Given the description of an element on the screen output the (x, y) to click on. 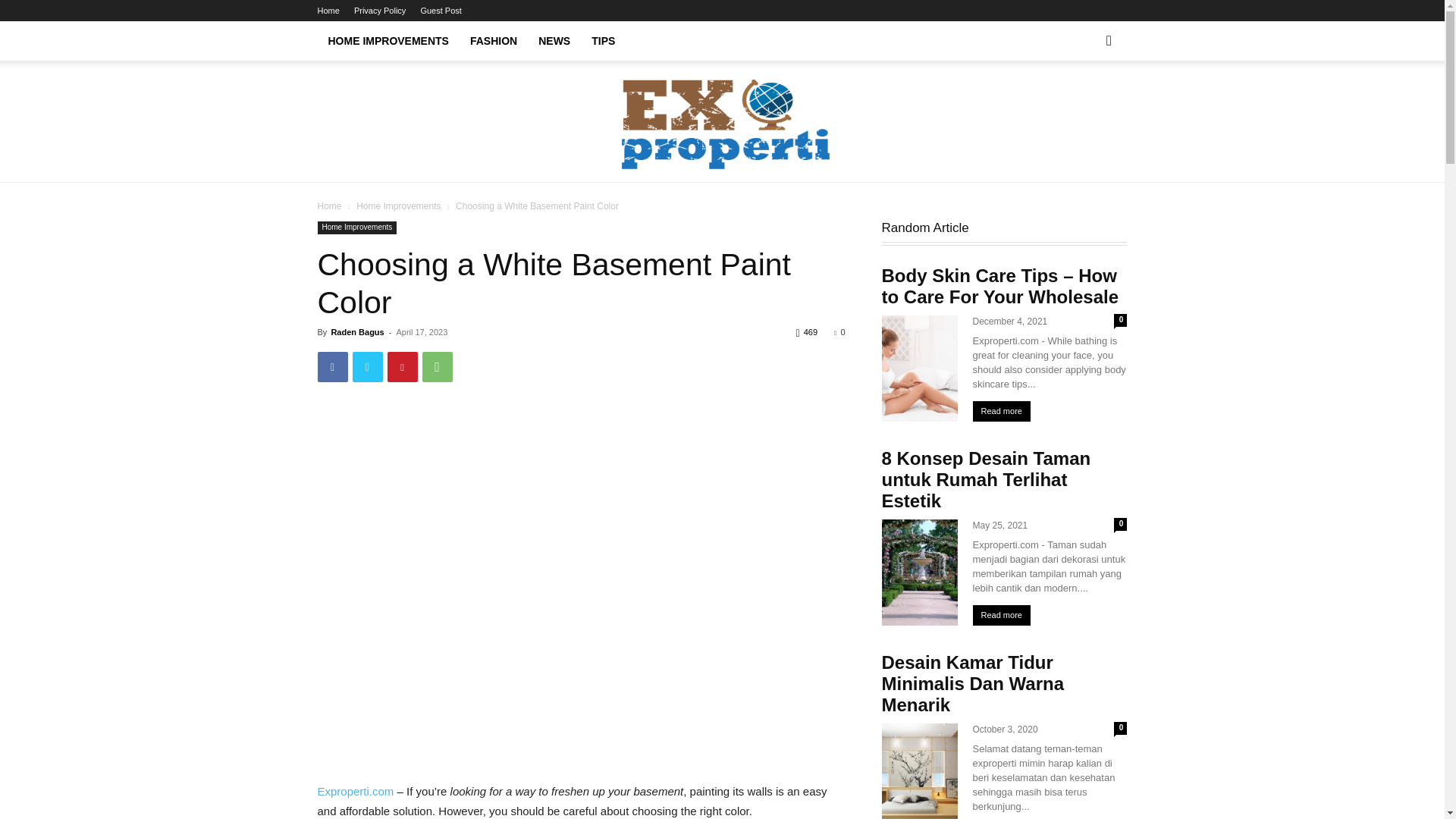
Pinterest (401, 367)
NEWS (553, 40)
Home (328, 205)
Privacy Policy (379, 10)
Exproperti.com (355, 790)
WhatsApp (436, 367)
Twitter (366, 367)
HOME IMPROVEMENTS (387, 40)
Raden Bagus (357, 331)
0 (839, 331)
View all posts in Home Improvements (398, 205)
Search (1085, 102)
Home Improvements (356, 227)
TIPS (603, 40)
